Given the description of an element on the screen output the (x, y) to click on. 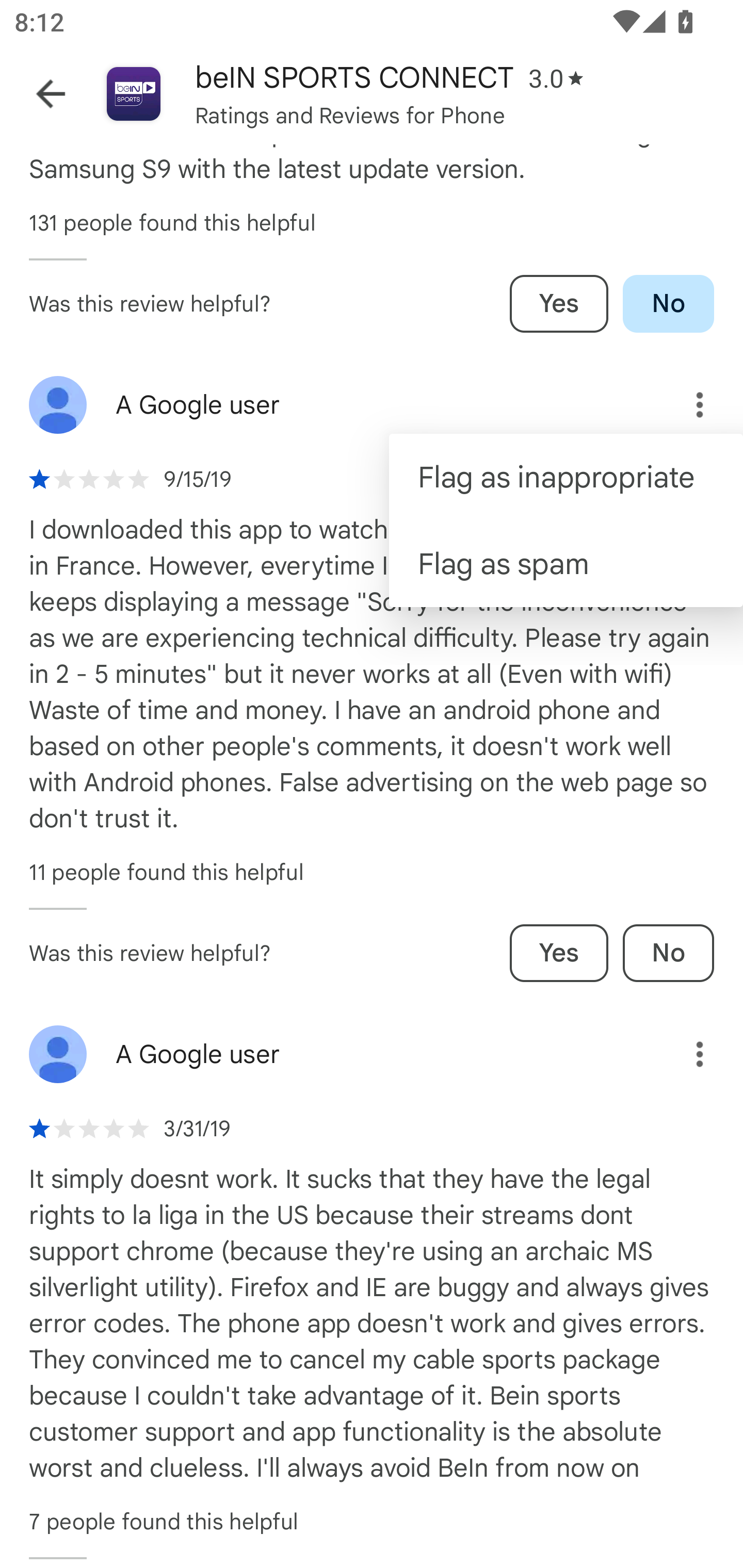
Flag as inappropriate (566, 477)
Flag as spam (566, 563)
